Given the description of an element on the screen output the (x, y) to click on. 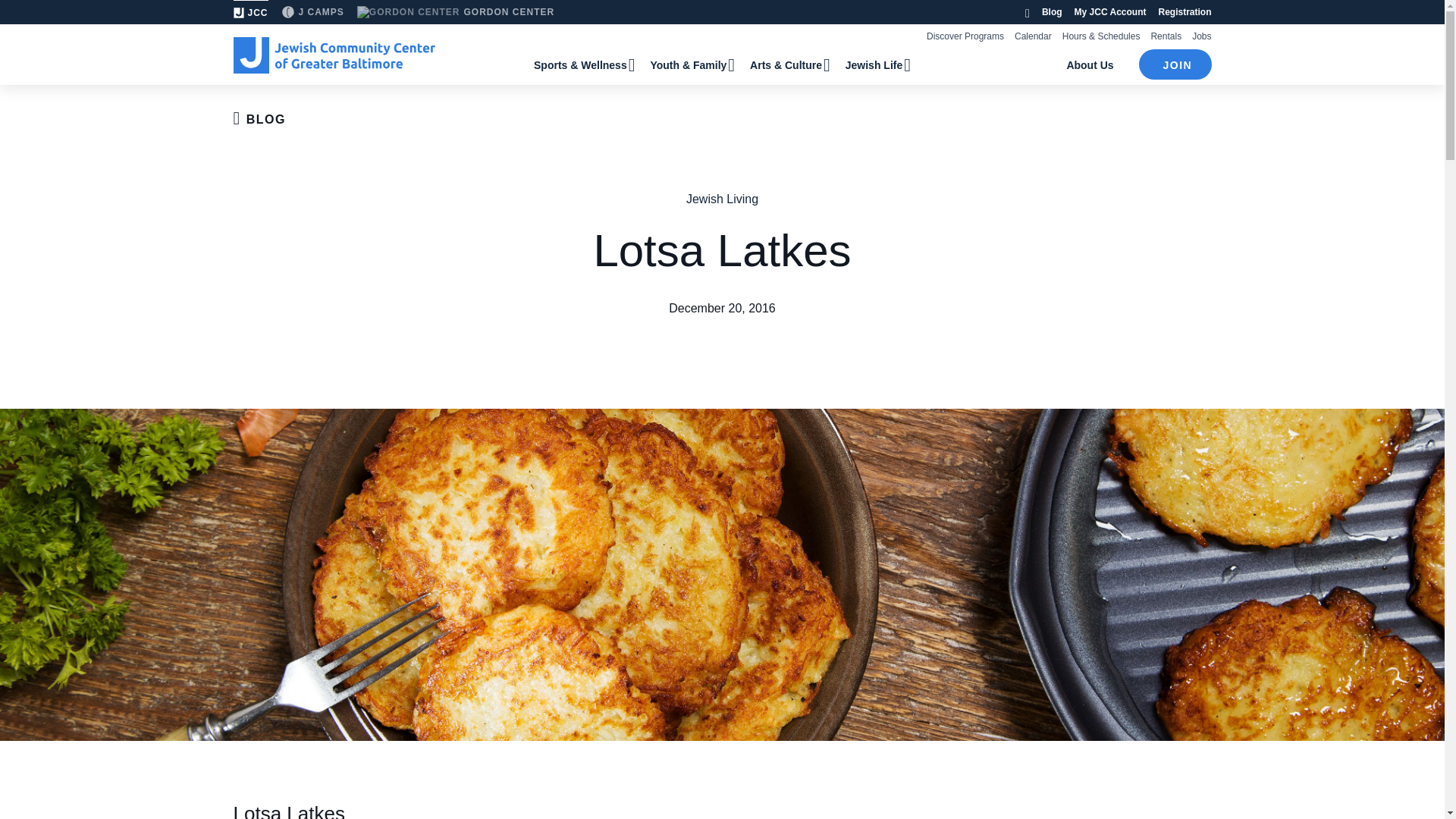
Jobs (1201, 36)
About Us (1090, 64)
My JCC Account (1110, 11)
Rentals (1165, 36)
JOIN (1174, 64)
J CAMPS (312, 12)
Registration (1184, 11)
GORDON CENTER (455, 12)
Discover Programs (965, 36)
Calendar (1032, 36)
